Given the description of an element on the screen output the (x, y) to click on. 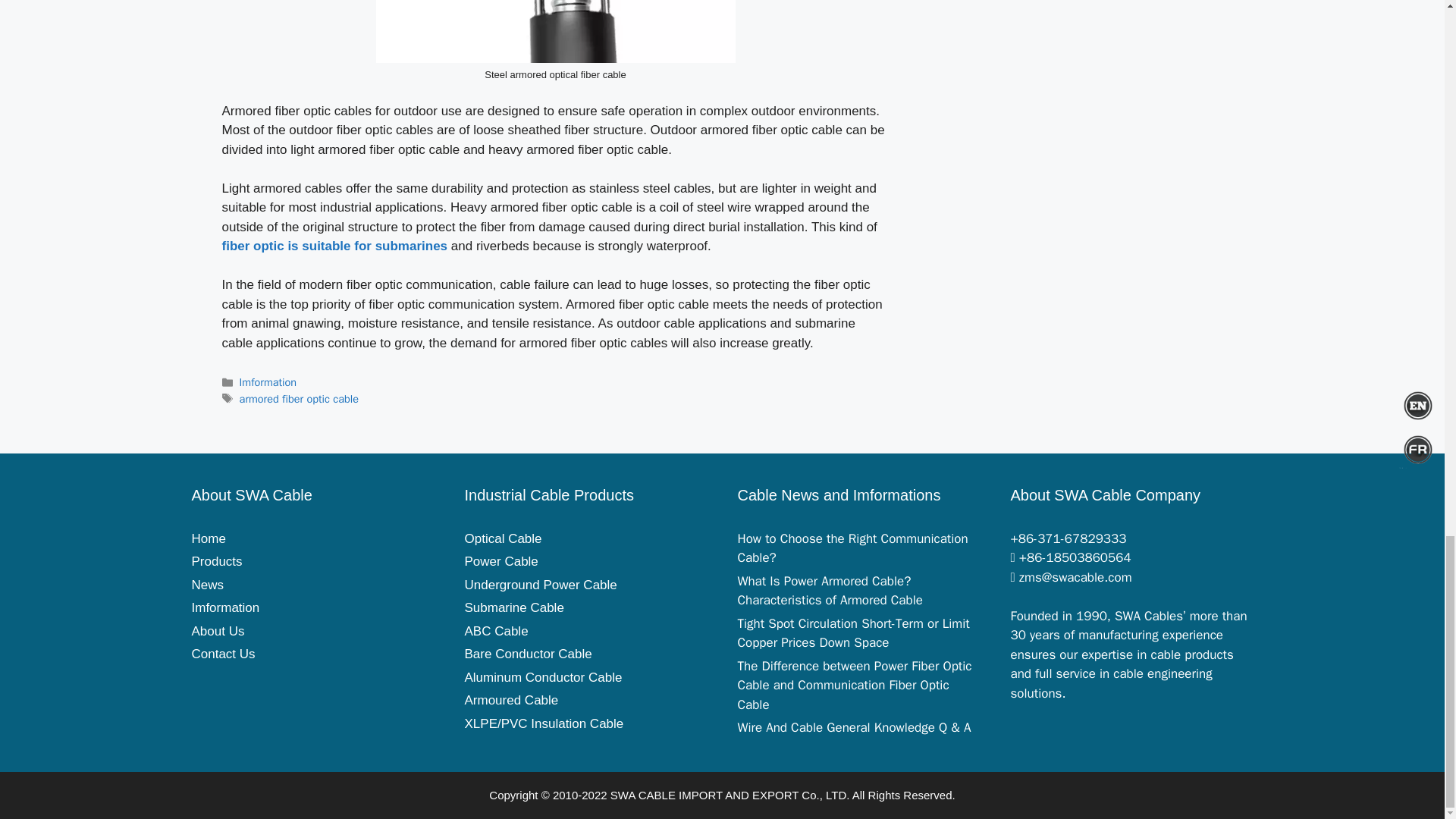
Visit Us On Facebook (233, 697)
Visit Us On Instagram (345, 697)
Visit Us On Linkedin (316, 697)
Visit Us On Youtube (290, 697)
Visit Us On Pinterest (261, 697)
Visit Us On Twitter (204, 697)
